Given the description of an element on the screen output the (x, y) to click on. 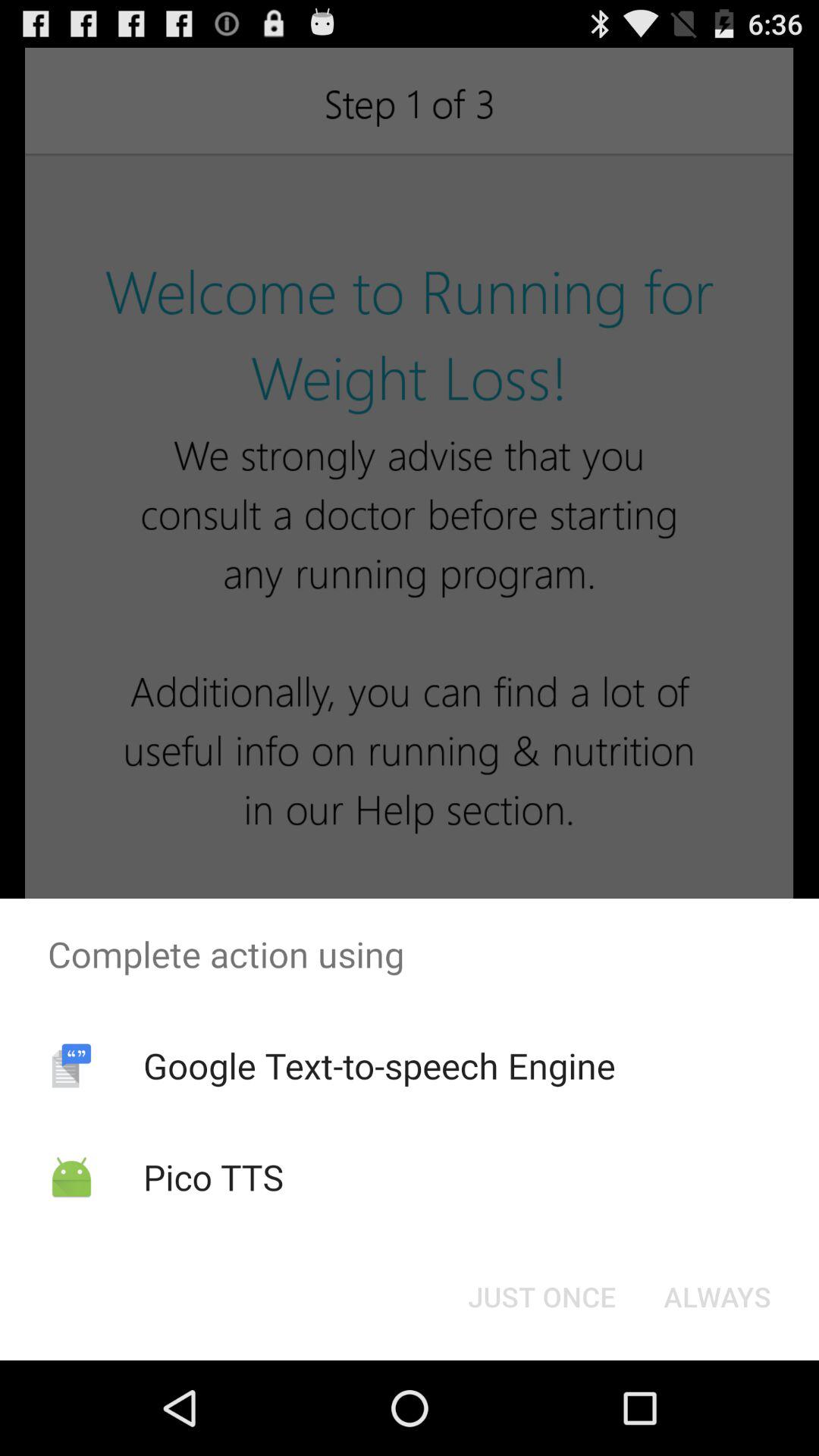
jump to always icon (717, 1296)
